Given the description of an element on the screen output the (x, y) to click on. 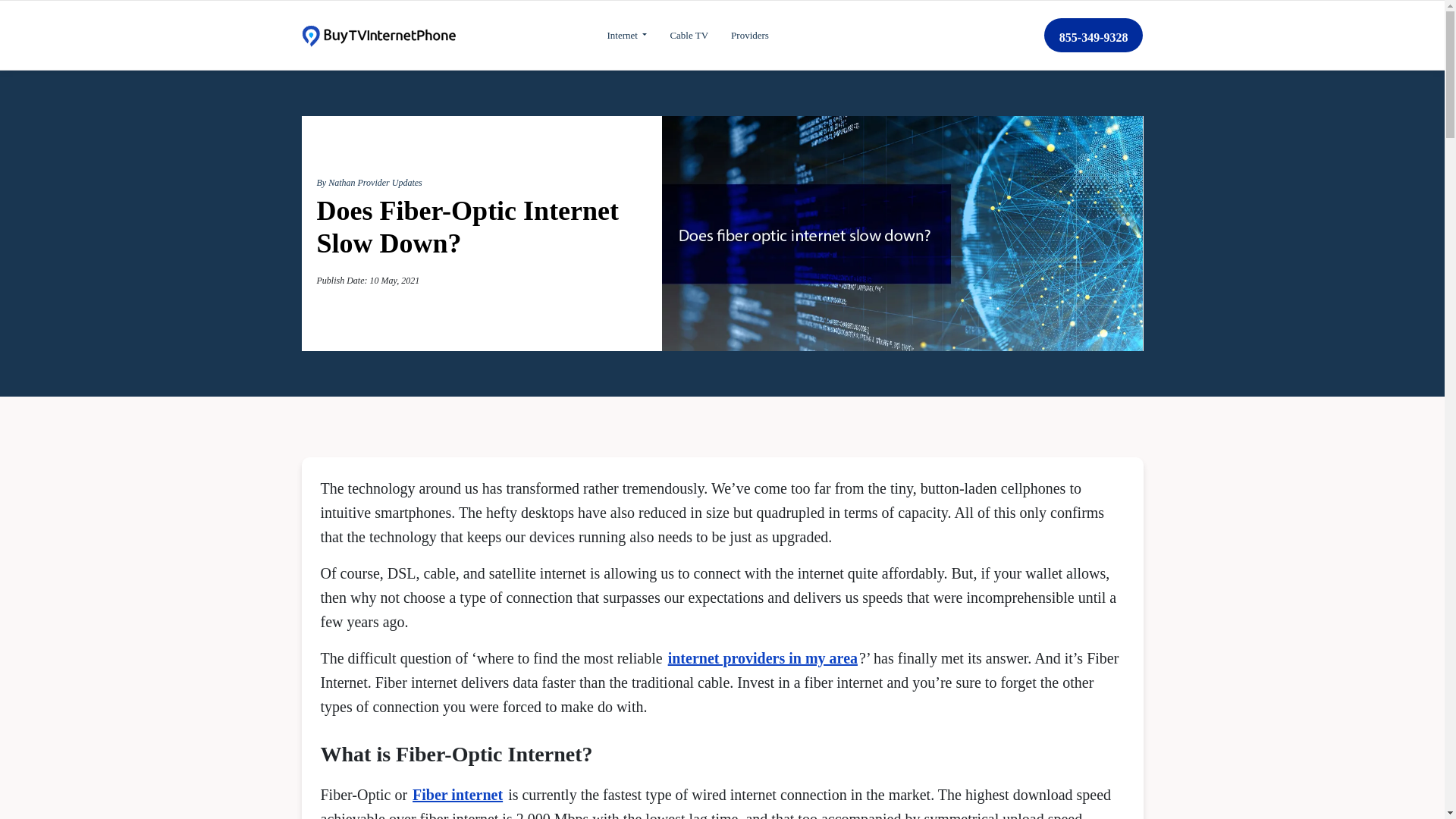
Provider Updates (390, 182)
By Nathan (337, 182)
Internet (626, 34)
BuyTVInternetPhone (378, 34)
internet providers in my area (762, 658)
855-349-9328 (1092, 35)
Providers (749, 34)
Cable TV (688, 34)
Fiber internet (456, 794)
